Given the description of an element on the screen output the (x, y) to click on. 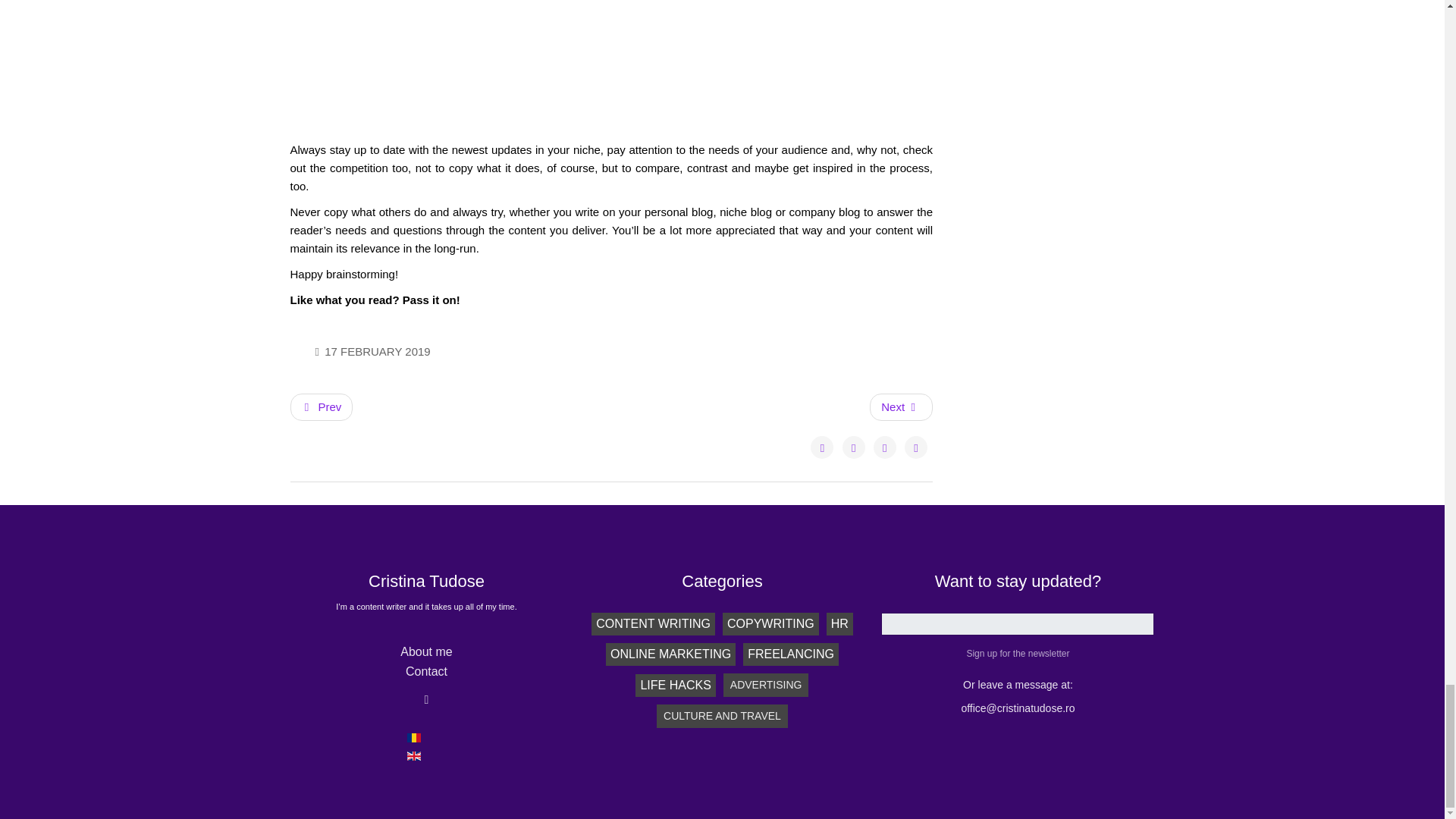
Next (901, 406)
About me (425, 652)
Contact (425, 671)
Prev (320, 406)
